Given the description of an element on the screen output the (x, y) to click on. 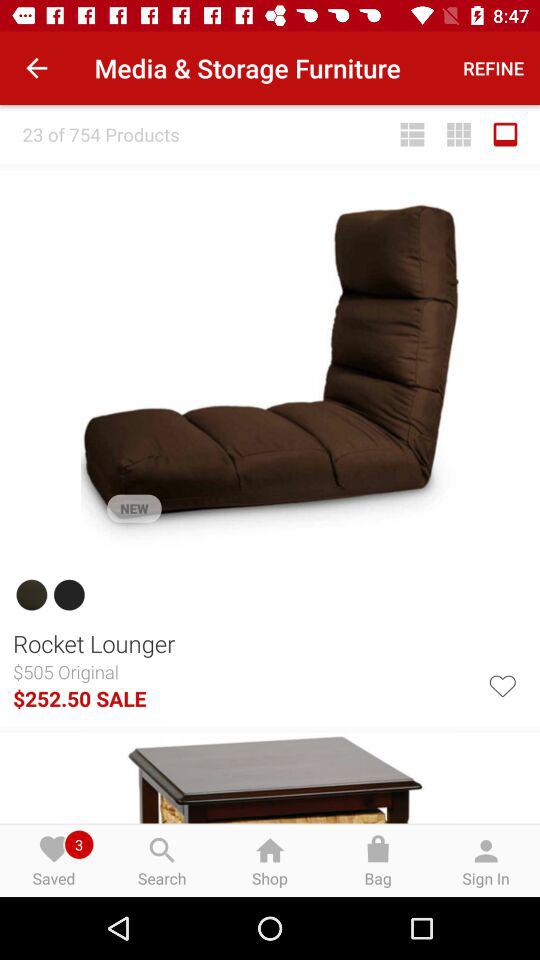
turn off the item next to media & storage furniture (493, 67)
